Given the description of an element on the screen output the (x, y) to click on. 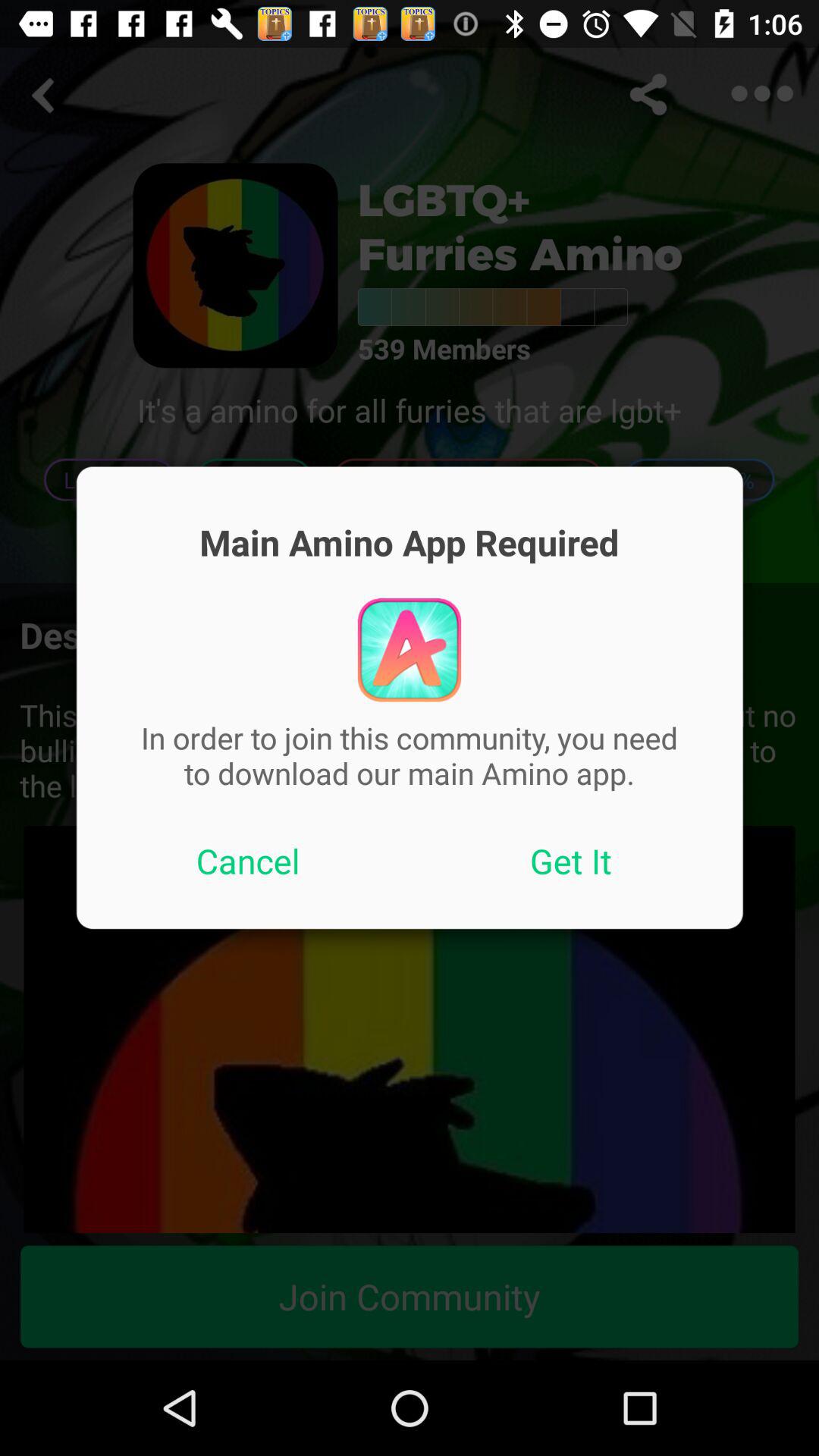
press the item on the left (247, 860)
